Given the description of an element on the screen output the (x, y) to click on. 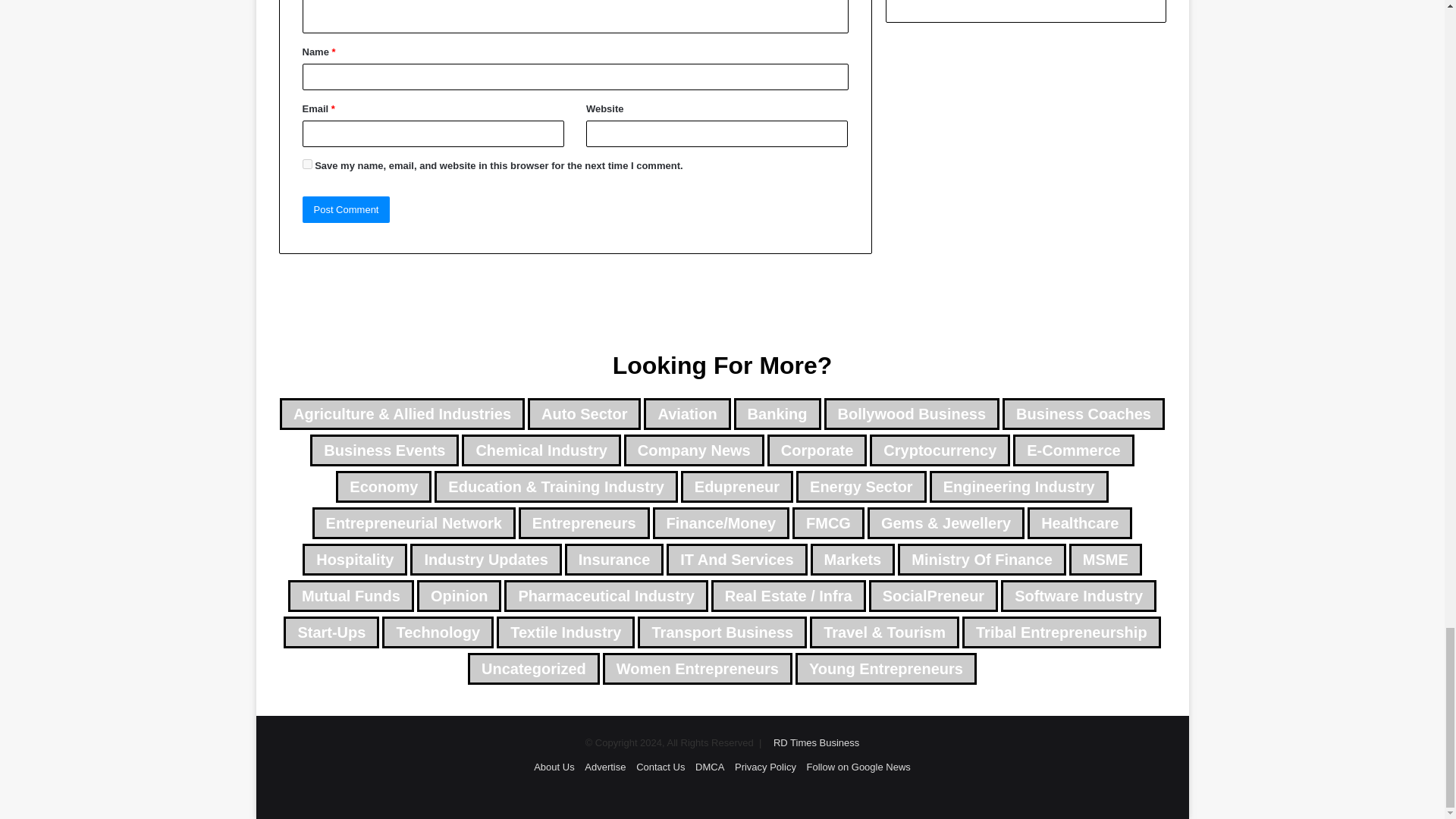
yes (306, 163)
Post Comment (345, 209)
